Given the description of an element on the screen output the (x, y) to click on. 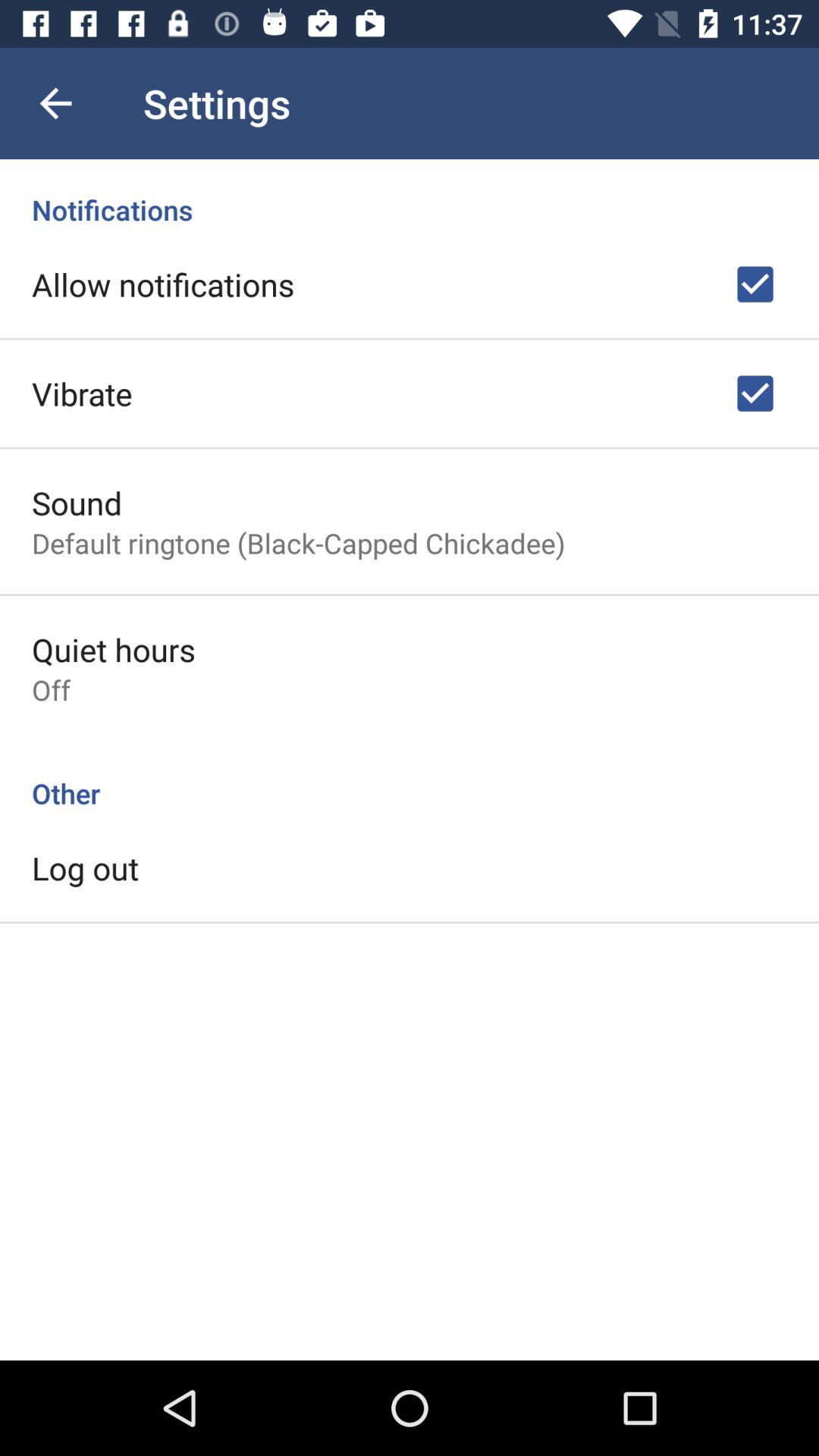
scroll until log out icon (84, 867)
